Given the description of an element on the screen output the (x, y) to click on. 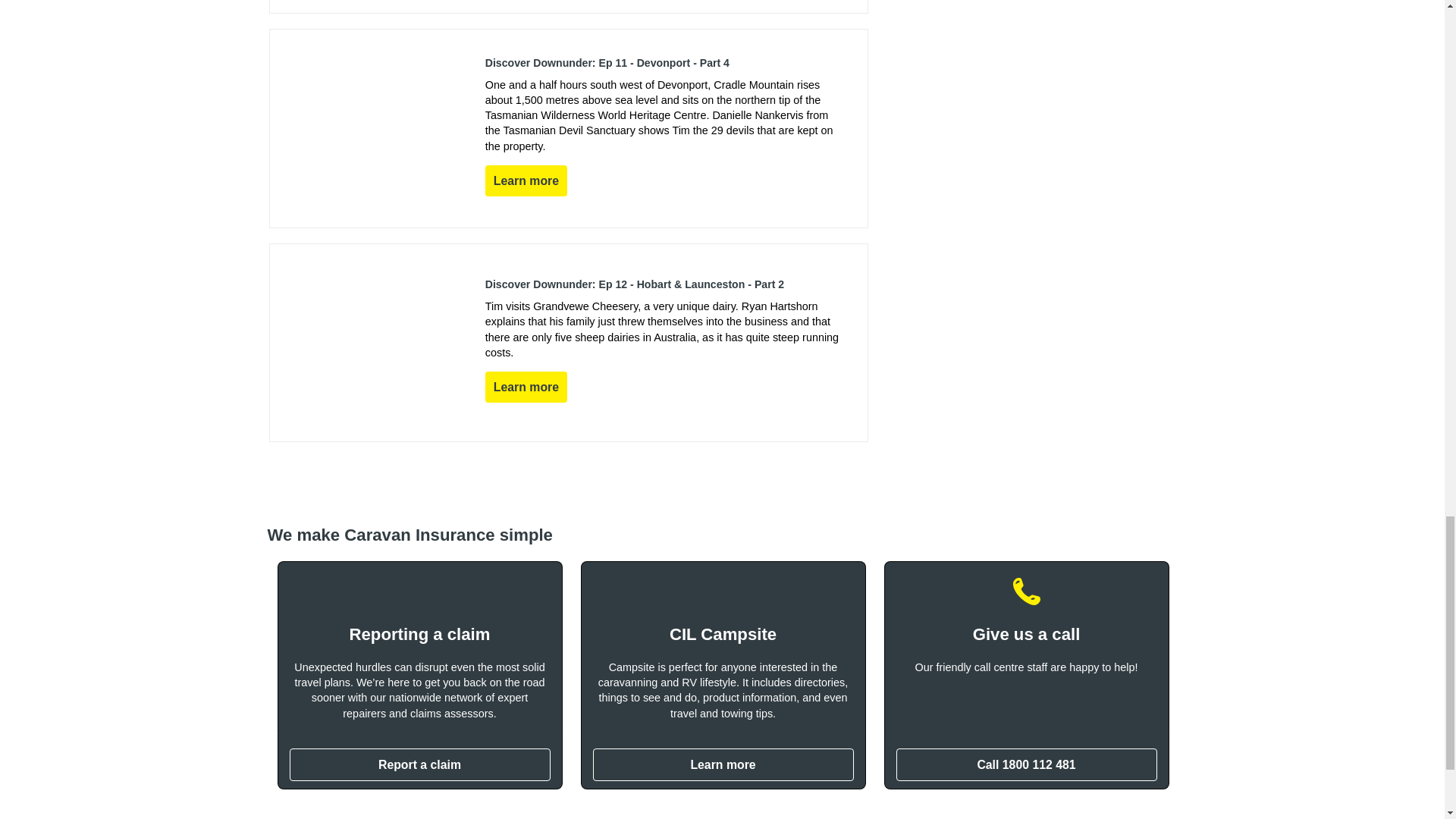
Article (568, 6)
Read full article (525, 386)
Article (568, 127)
Learn more (722, 764)
Read full article (525, 180)
Article (568, 342)
Report a claim (419, 764)
Call 1800 112 481 (1026, 764)
